Given the description of an element on the screen output the (x, y) to click on. 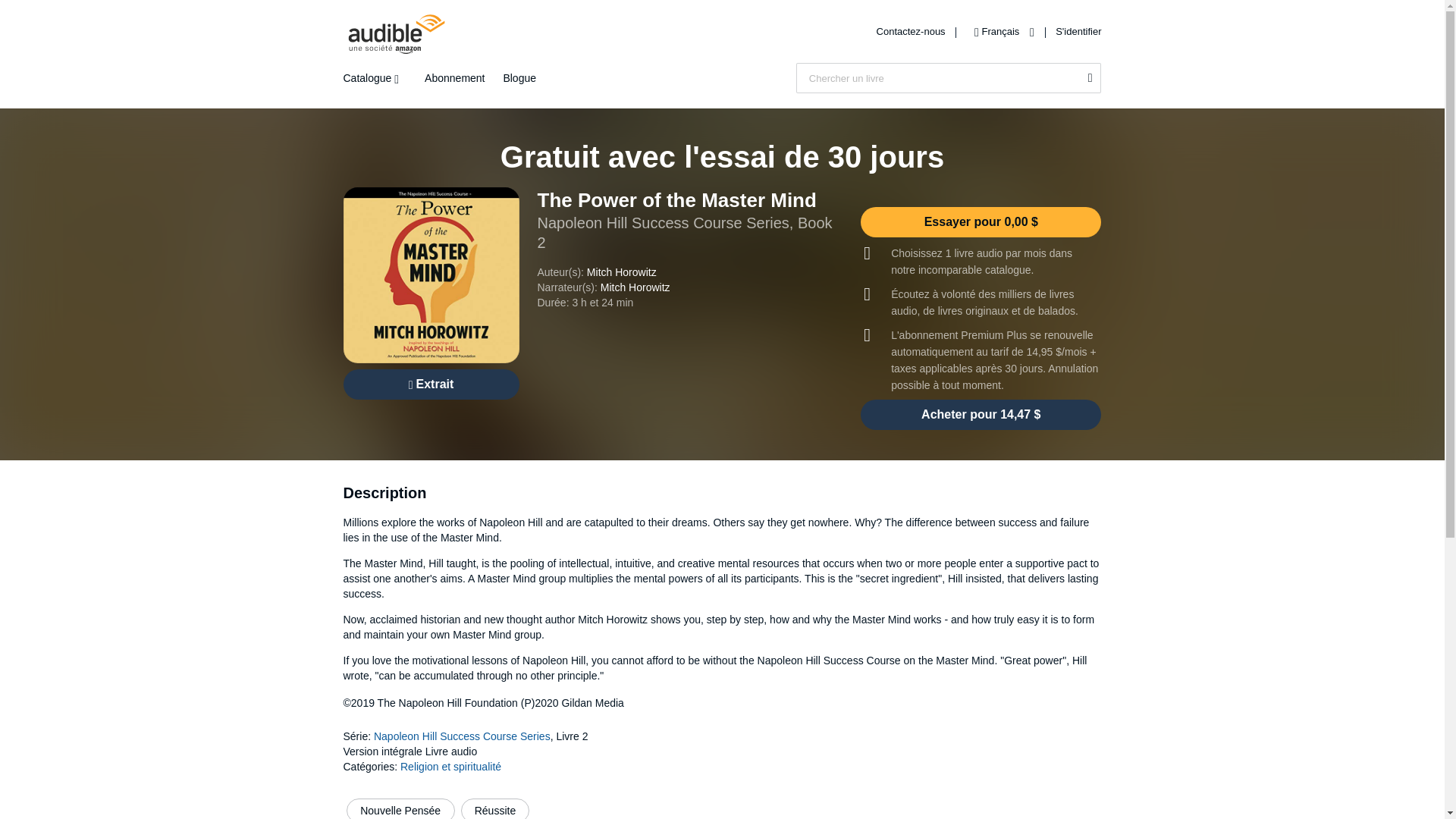
S'identifier (1077, 30)
Blogue (518, 78)
Catalogue (374, 78)
Contactez-nous (912, 30)
Mitch Horowitz (621, 272)
Abonnement (454, 78)
Mitch Horowitz (634, 287)
Extrait (430, 384)
